Given the description of an element on the screen output the (x, y) to click on. 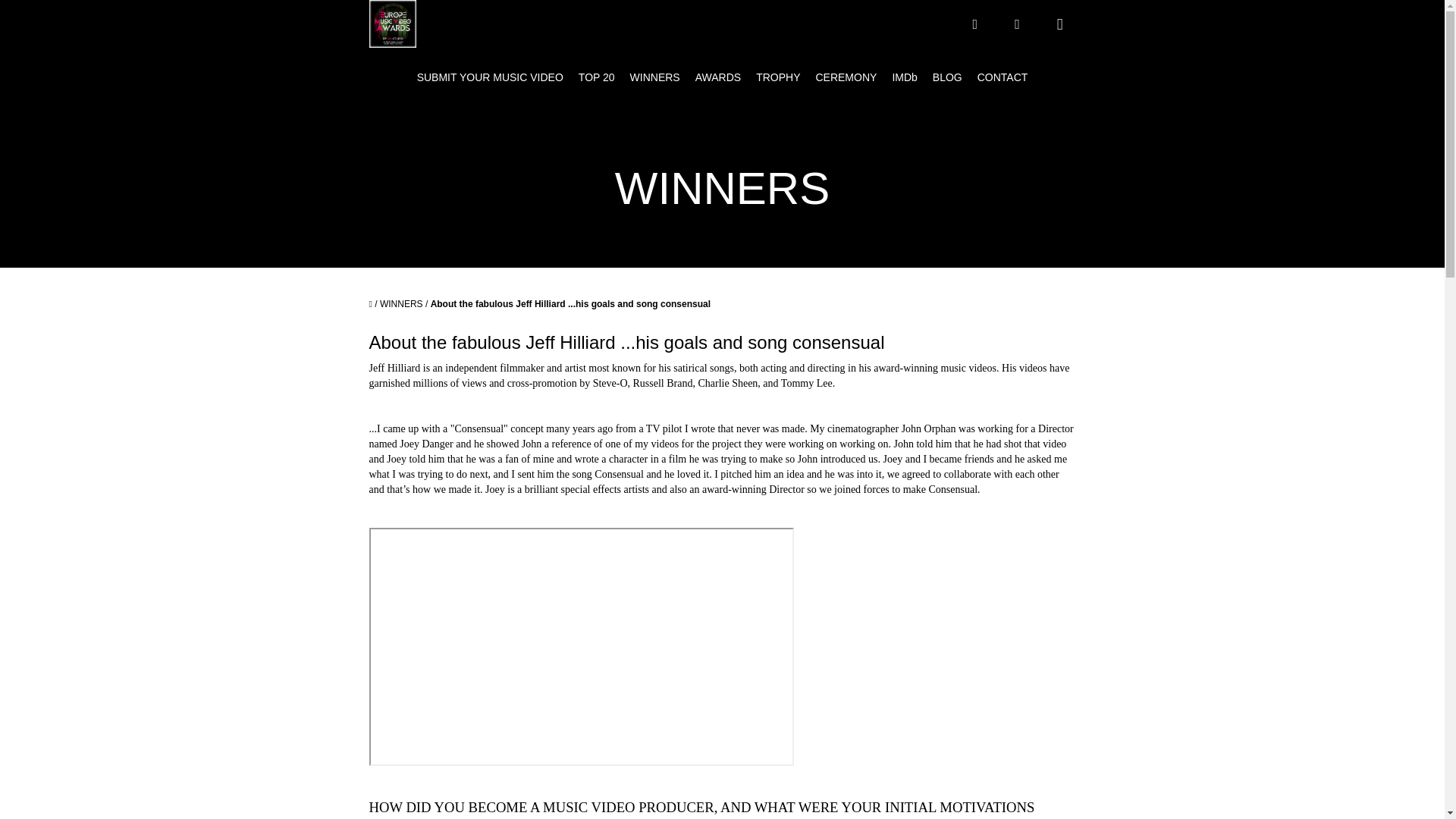
WINNERS (655, 77)
CEREMONY (845, 77)
SUBMIT YOUR MUSIC VIDEO (489, 77)
TROPHY (778, 77)
AWARDS (717, 77)
WINNERS (401, 303)
CONTACT (1002, 77)
